Given the description of an element on the screen output the (x, y) to click on. 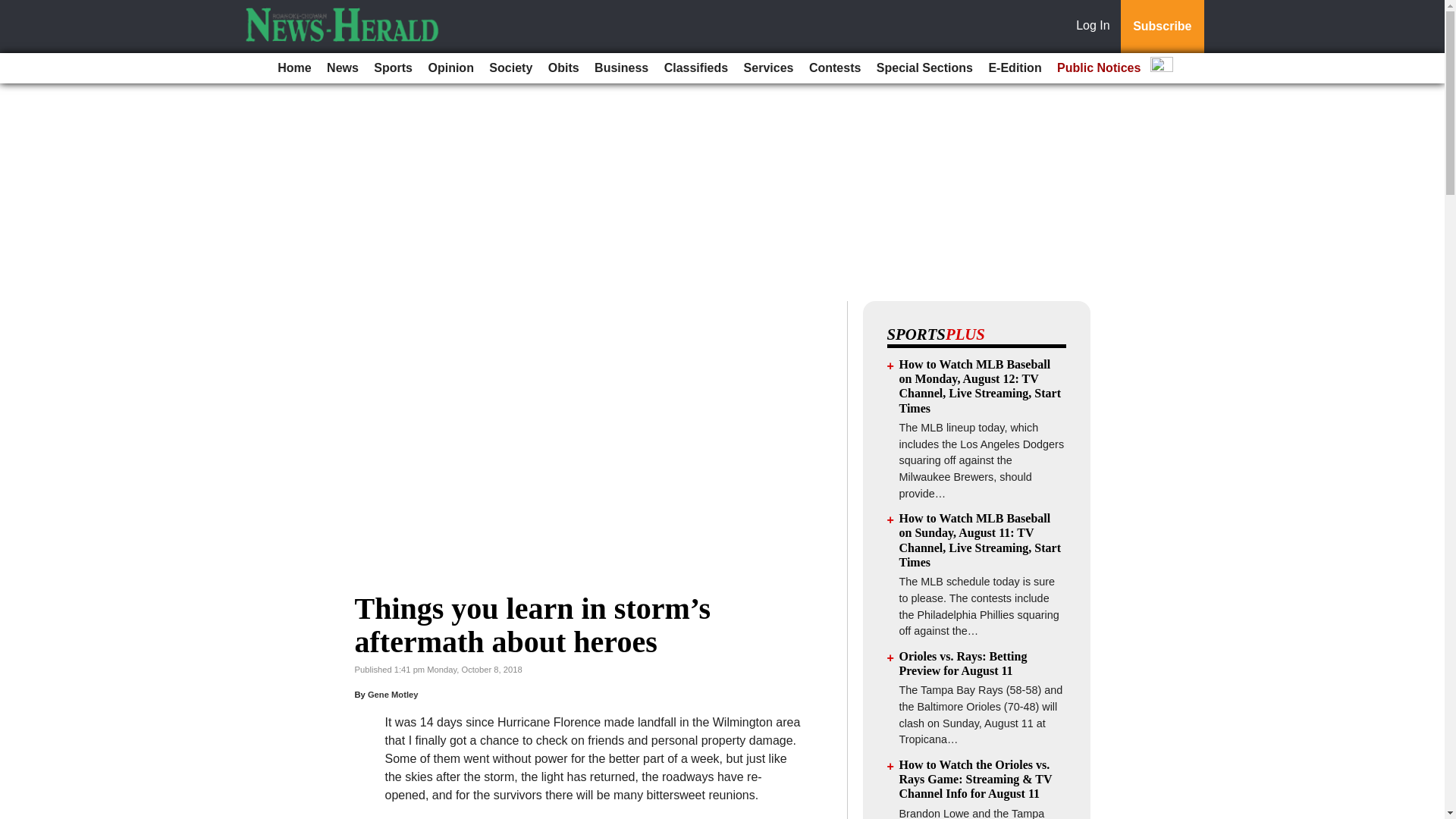
Gene Motley (393, 694)
Subscribe (1162, 26)
Society (510, 68)
E-Edition (1013, 68)
Classifieds (695, 68)
Go (13, 9)
Opinion (450, 68)
Public Notices (1099, 68)
Sports (393, 68)
Special Sections (924, 68)
